Given the description of an element on the screen output the (x, y) to click on. 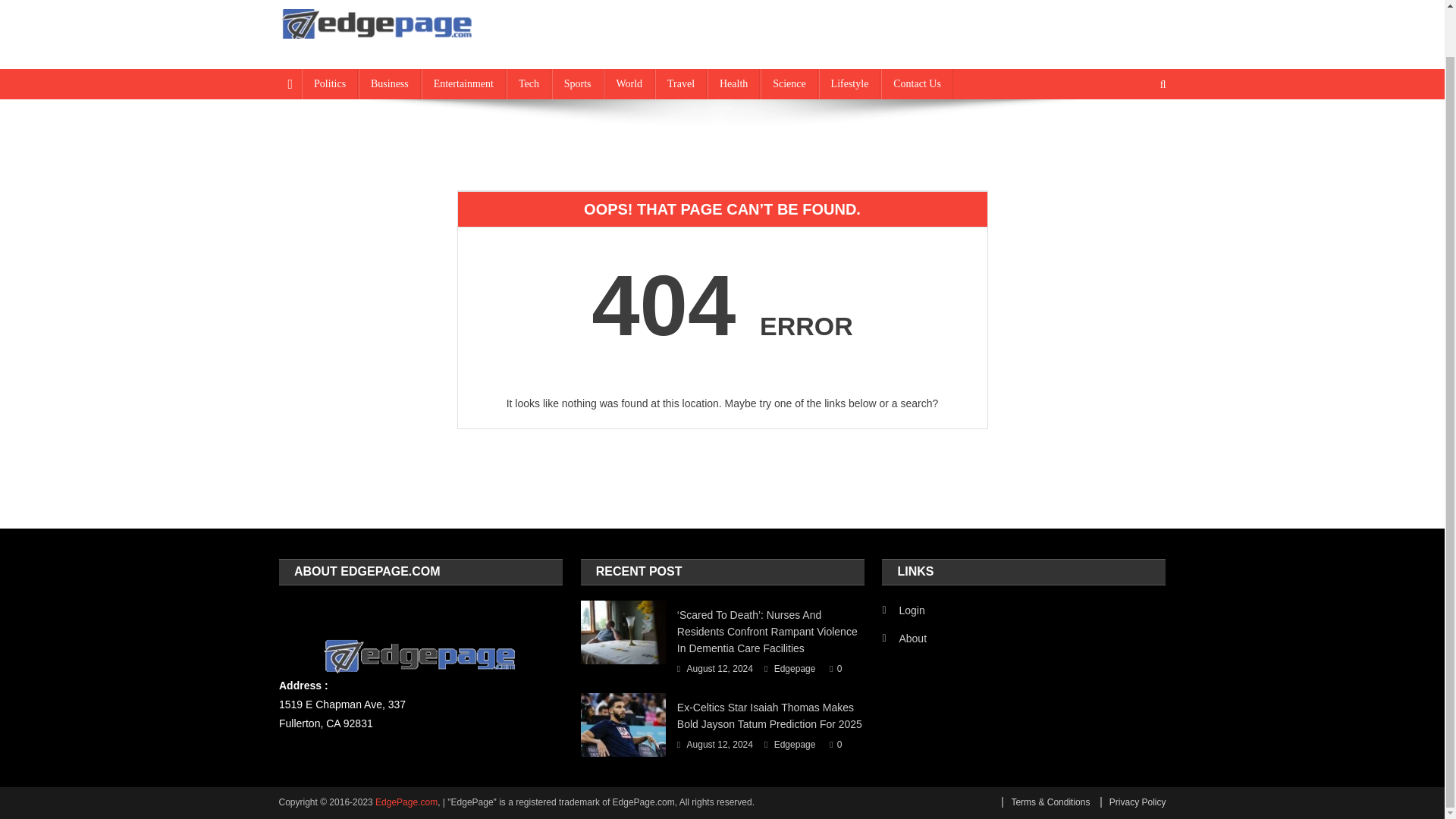
Science (789, 83)
Contact Us (916, 83)
Edge Page News (376, 53)
Entertainment (463, 83)
August 12, 2024 (719, 745)
Business (389, 83)
Edgepage (794, 745)
EdgePage.com (406, 801)
Search (1133, 134)
